Given the description of an element on the screen output the (x, y) to click on. 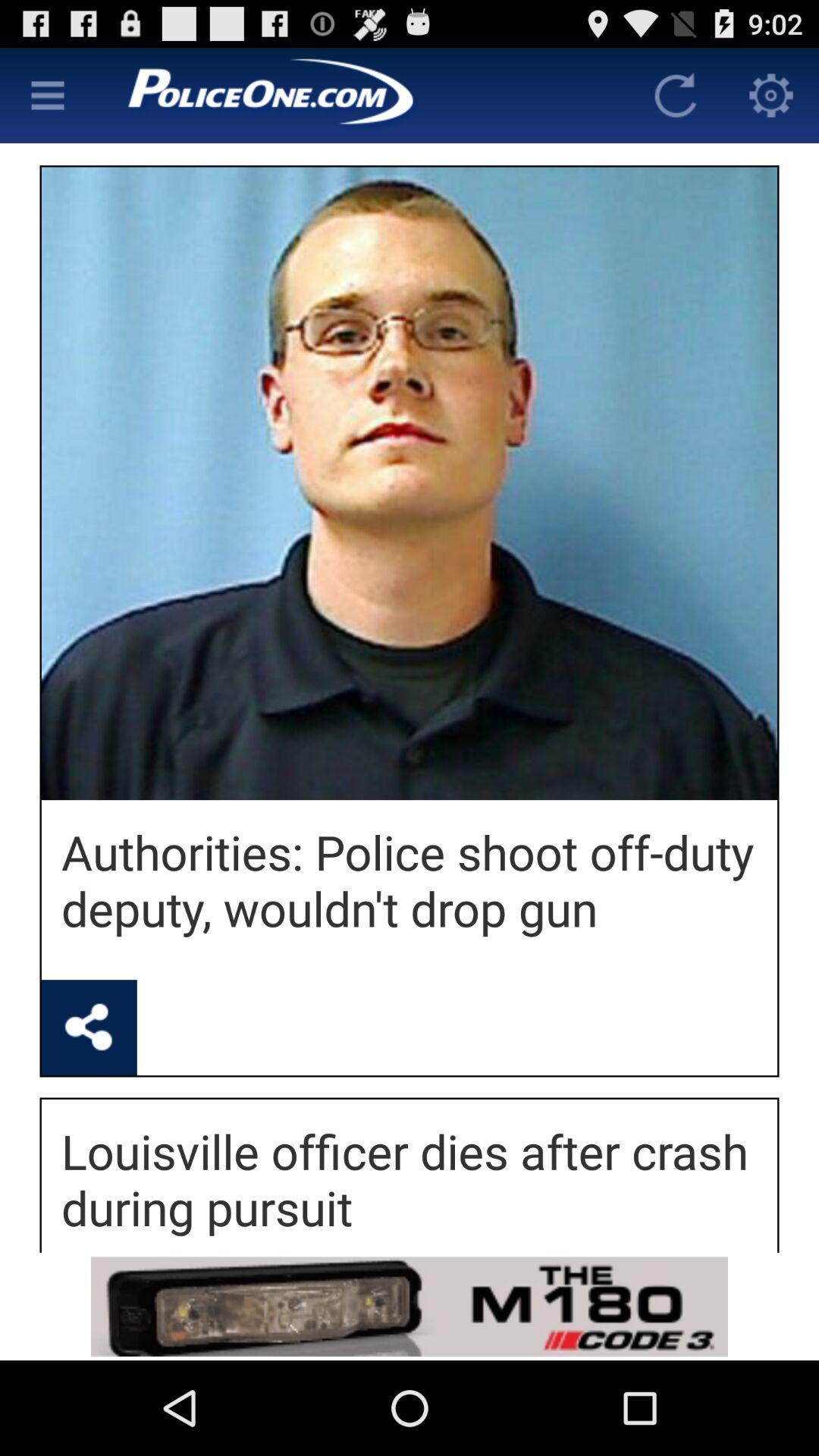
go to main menu option (47, 95)
